Given the description of an element on the screen output the (x, y) to click on. 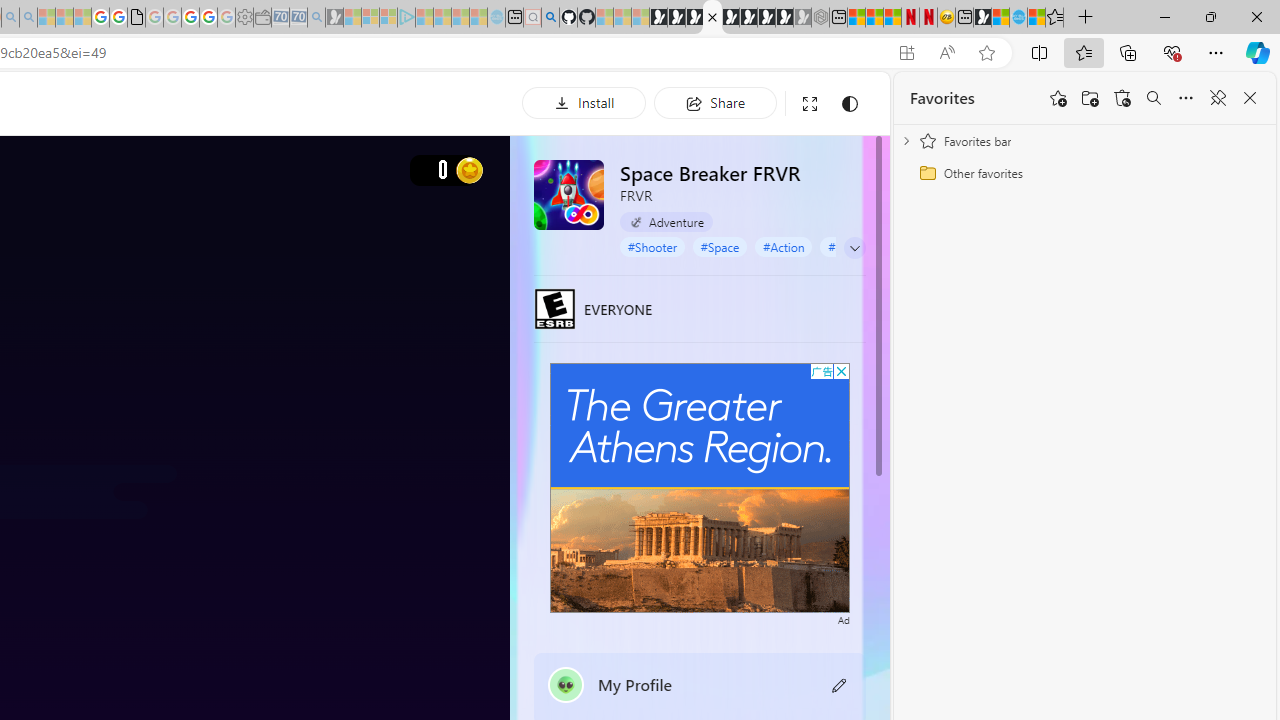
Install (583, 102)
#Shooter (651, 246)
